Given the description of an element on the screen output the (x, y) to click on. 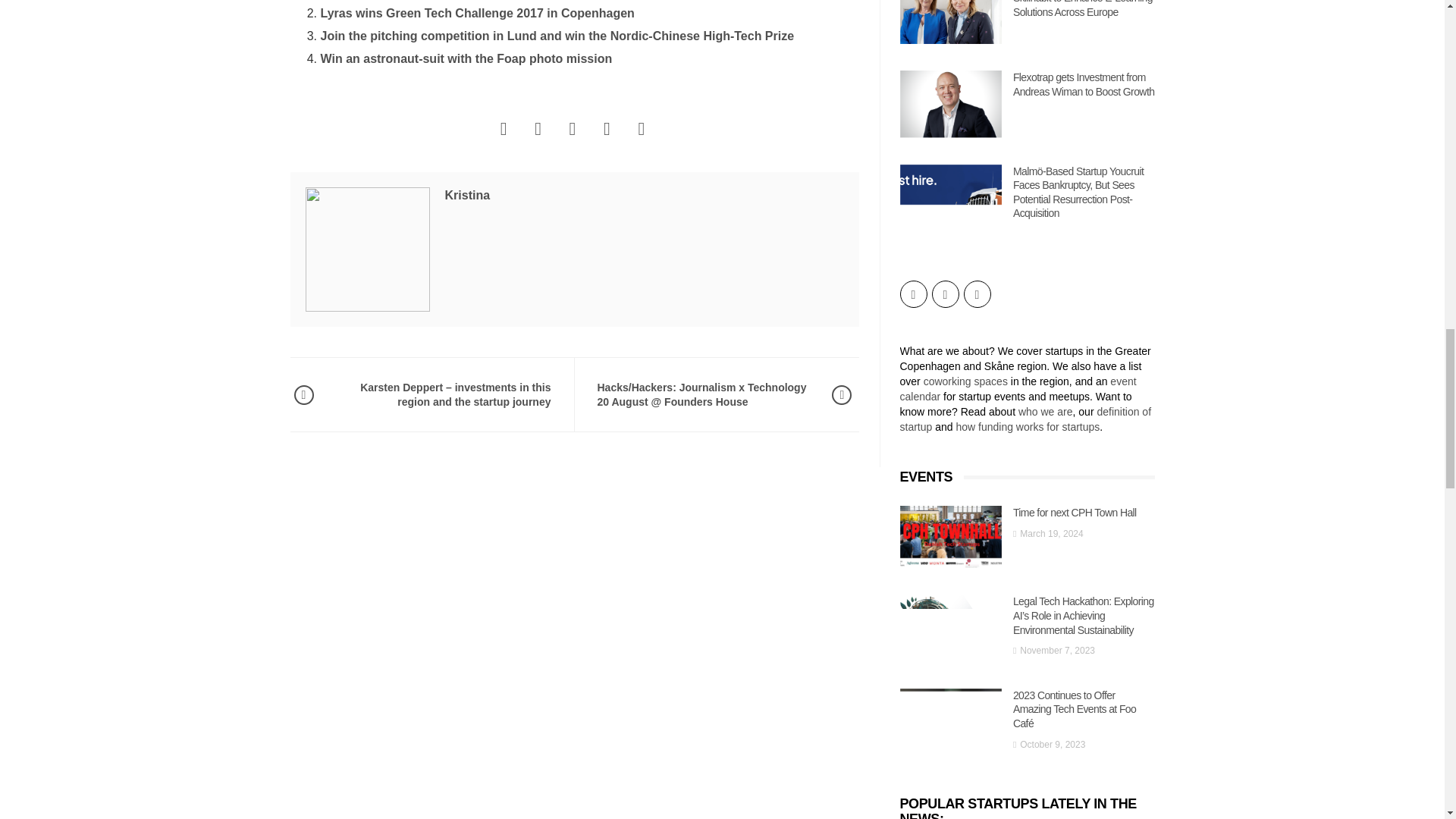
Lyras wins Green Tech Challenge 2017 in Copenhagen (476, 12)
